Given the description of an element on the screen output the (x, y) to click on. 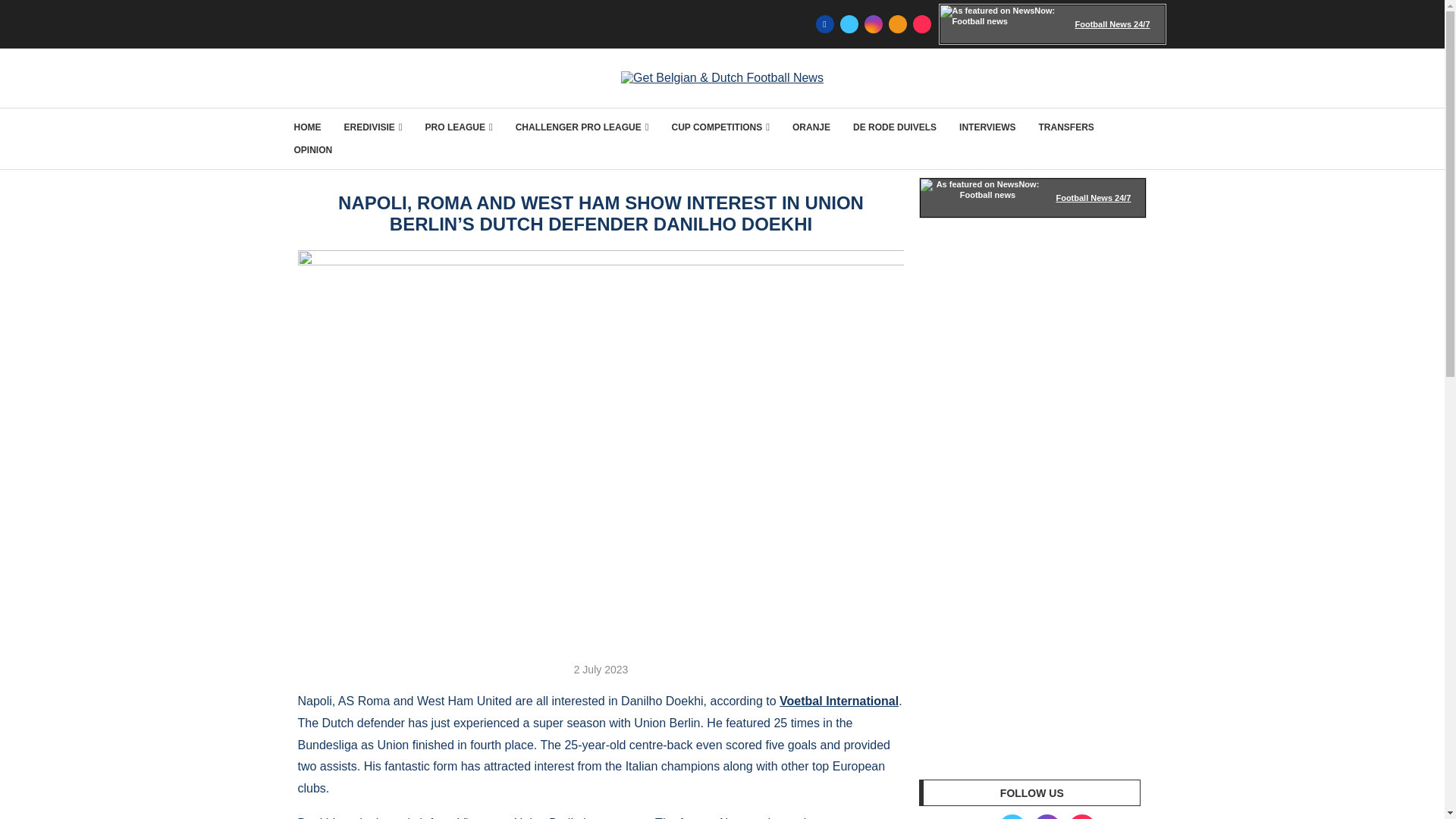
Click here for more Football news from NewsNow (1032, 197)
HOME (307, 127)
PRO LEAGUE (459, 127)
Click here for more Football news from NewsNow (1052, 24)
EREDIVISIE (373, 127)
